Given the description of an element on the screen output the (x, y) to click on. 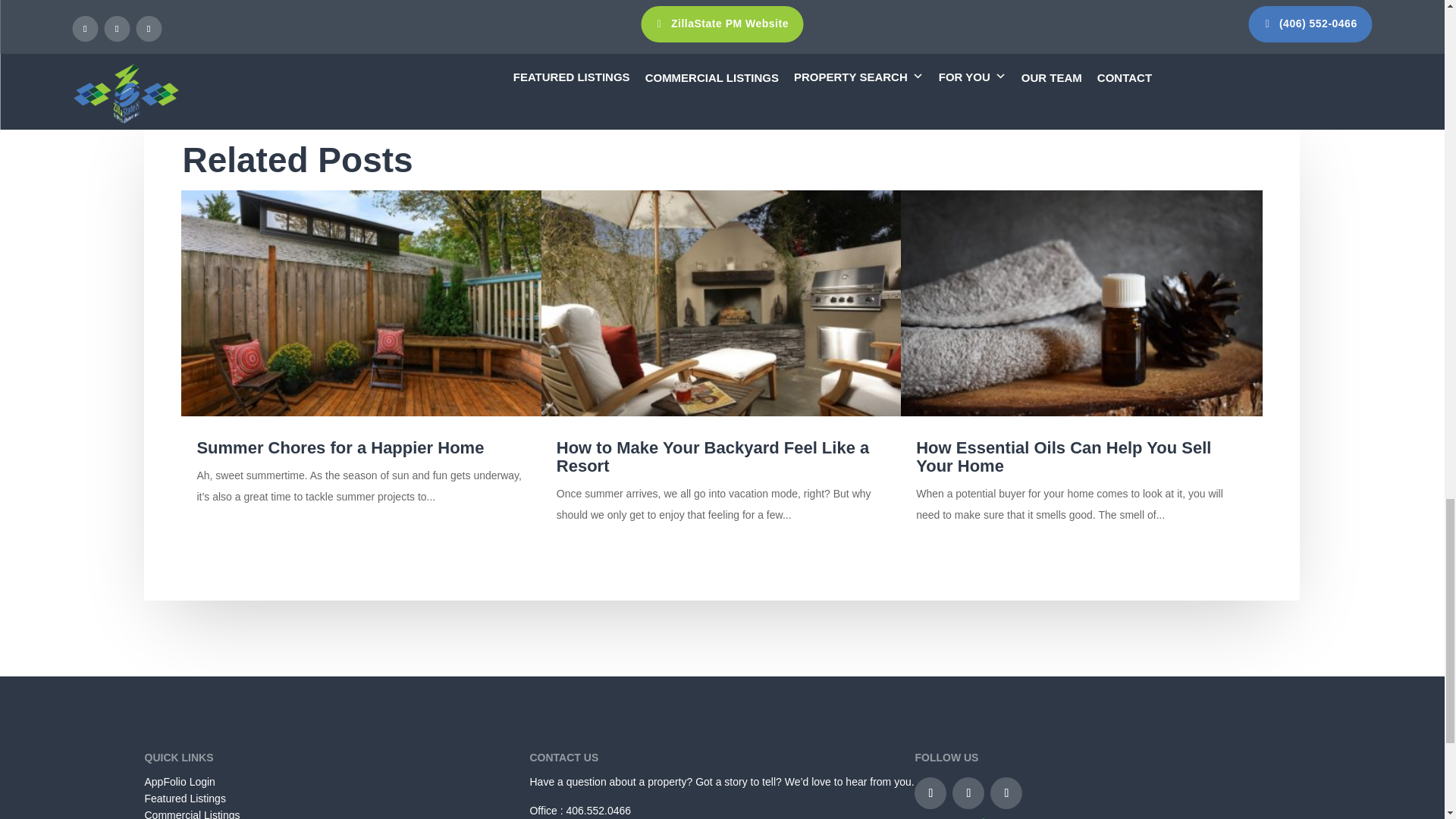
Commercial Listings (192, 814)
Summer Chores for a Happier Home (339, 447)
Featured Listings (184, 798)
AppFolio Login (179, 781)
How to Make Your Backyard Feel Like a Resort (712, 456)
How Essential Oils Can Help You Sell Your Home (1063, 456)
Follow on Facebook (930, 793)
